Given the description of an element on the screen output the (x, y) to click on. 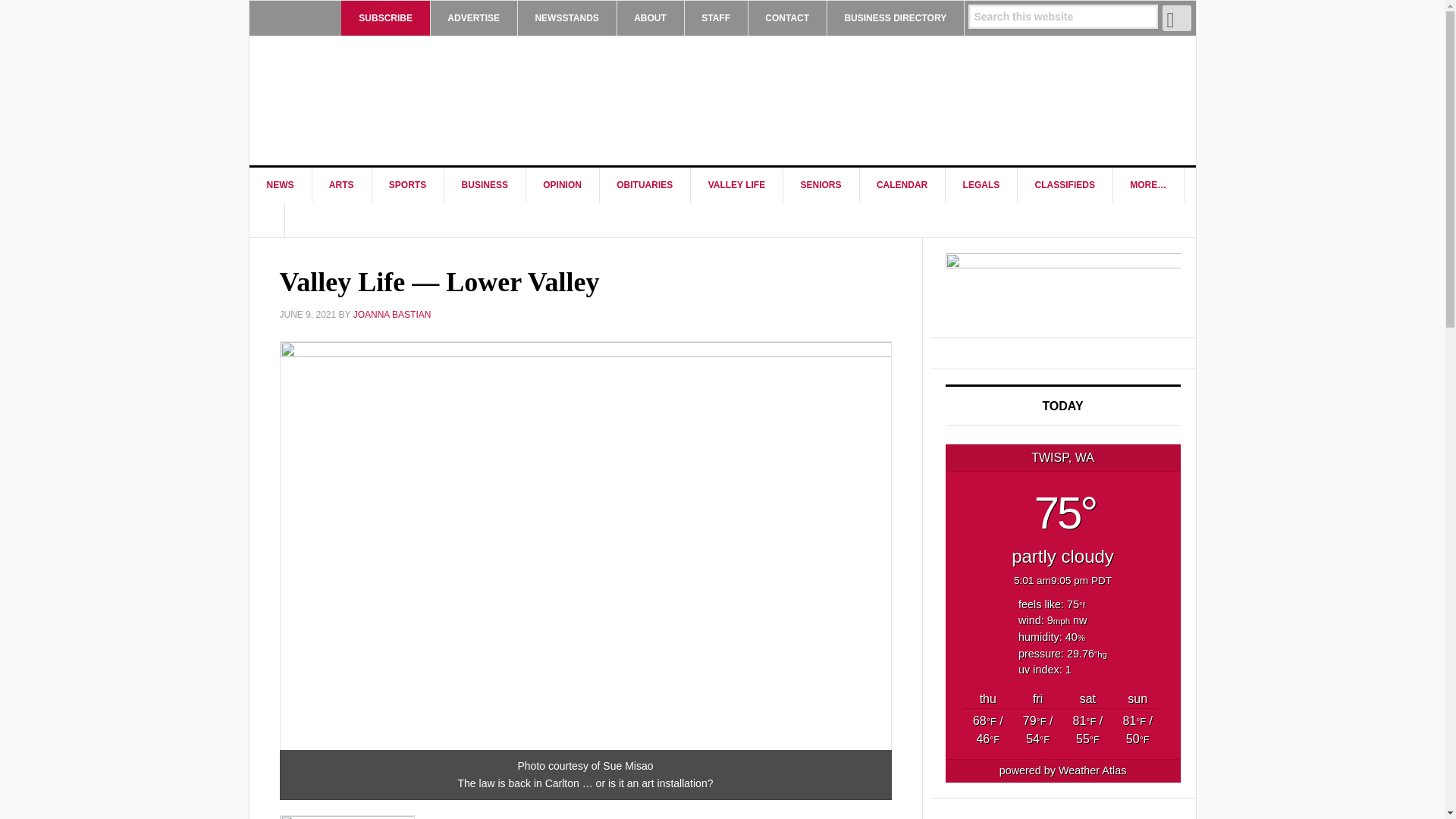
Partly Cloudy (1136, 729)
METHOW VALLEY NEWS (377, 100)
ARTS (341, 184)
OPINION (562, 184)
CLASSIFIEDS (1065, 184)
SUBSCRIBE (385, 18)
STAFF (716, 18)
VALLEY LIFE (737, 184)
ADVERTISE (473, 18)
NEWS (279, 184)
ABOUT (649, 18)
SPORTS (407, 184)
SENIORS (821, 184)
OBITUARIES (644, 184)
LEGALS (980, 184)
